Given the description of an element on the screen output the (x, y) to click on. 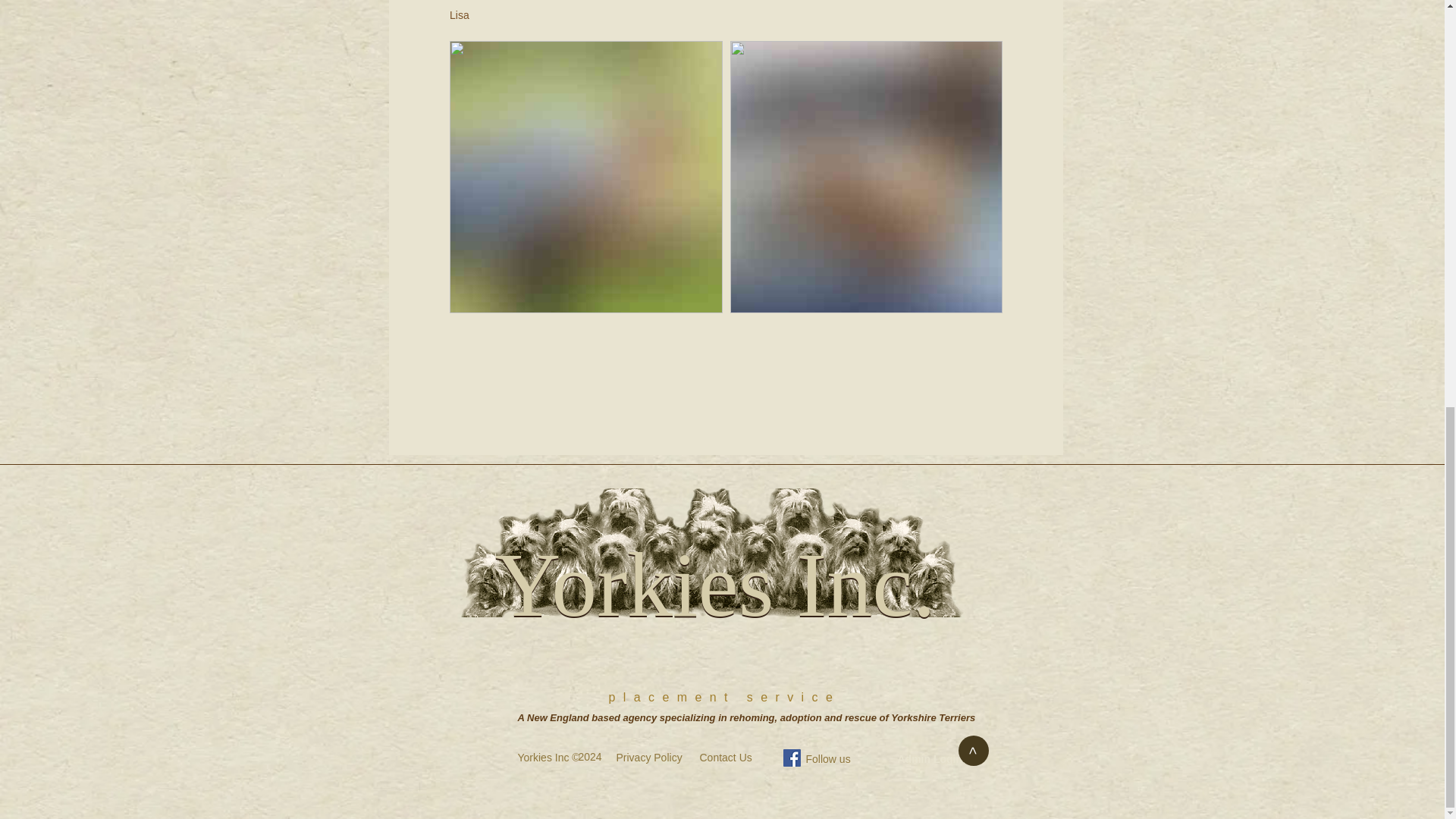
Follow us  (829, 758)
Contact Us (724, 757)
Admin Login (943, 759)
Privacy Policy (648, 757)
